Given the description of an element on the screen output the (x, y) to click on. 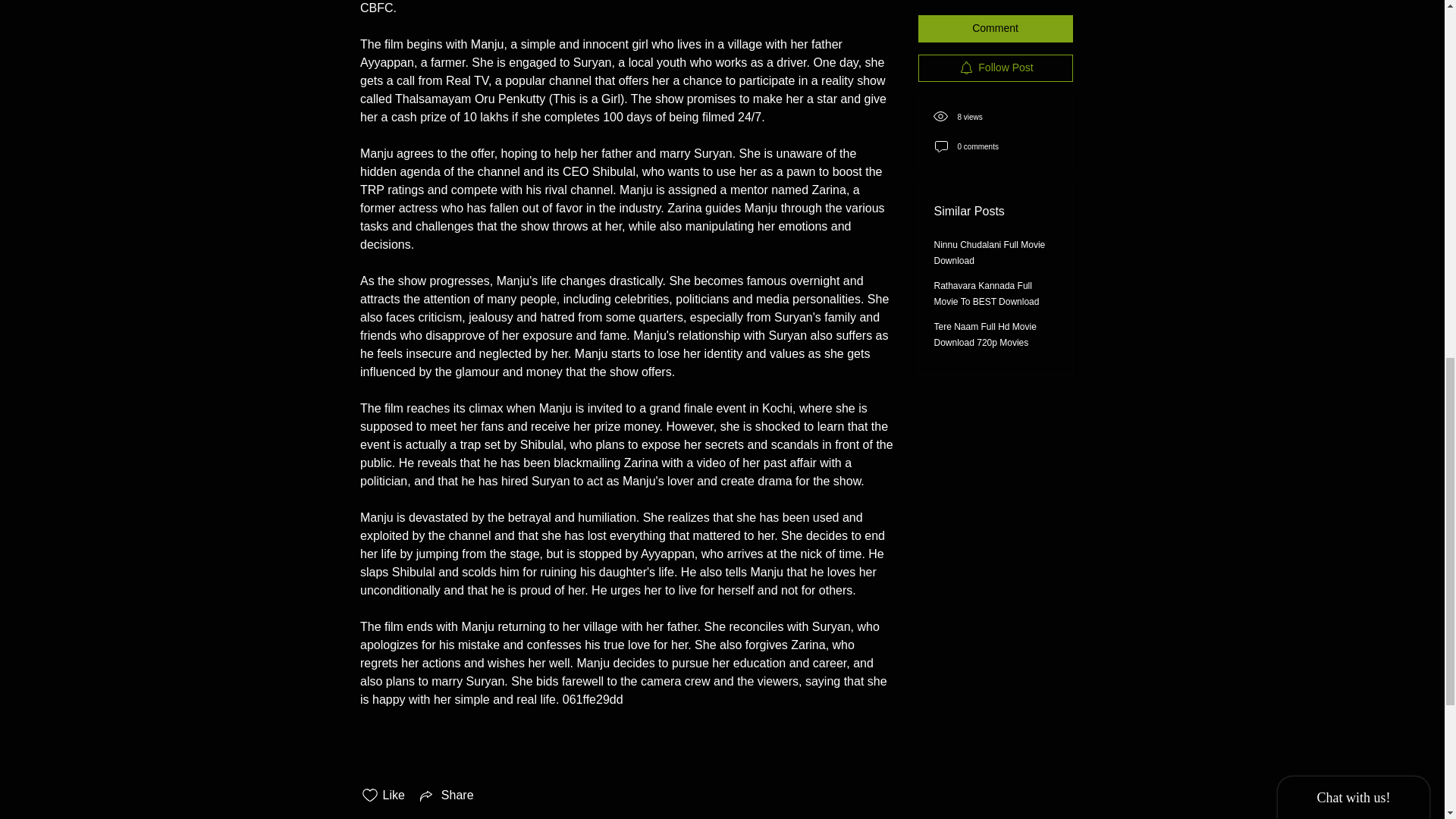
Share (445, 795)
